Given the description of an element on the screen output the (x, y) to click on. 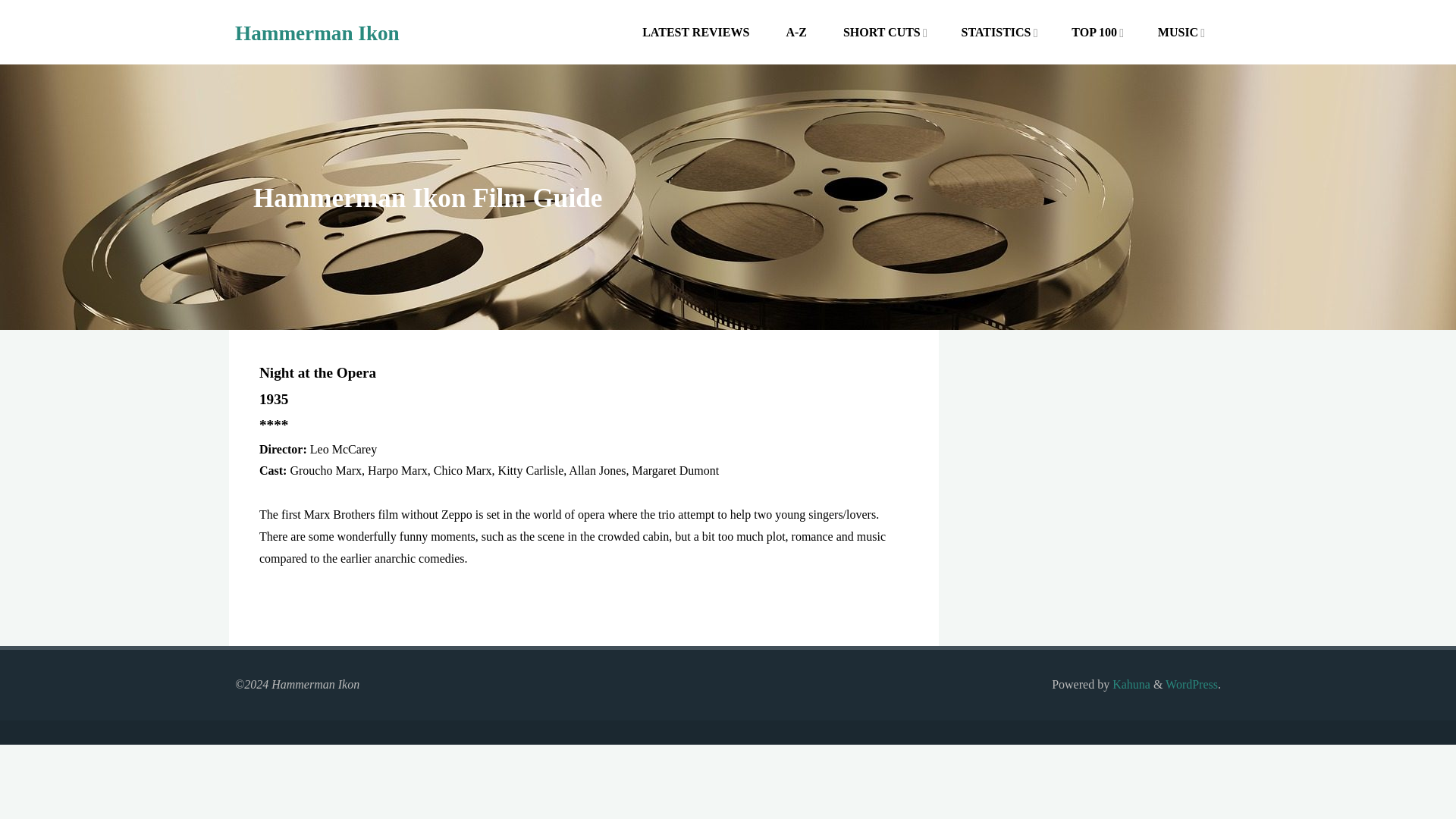
STATISTICS (995, 32)
Semantic Personal Publishing Platform (1191, 684)
SHORT CUTS (882, 32)
Kahuna WordPress Theme by Cryout Creations (1129, 684)
Hammerman Ikon (316, 33)
LATEST REVIEWS (696, 32)
